Given the description of an element on the screen output the (x, y) to click on. 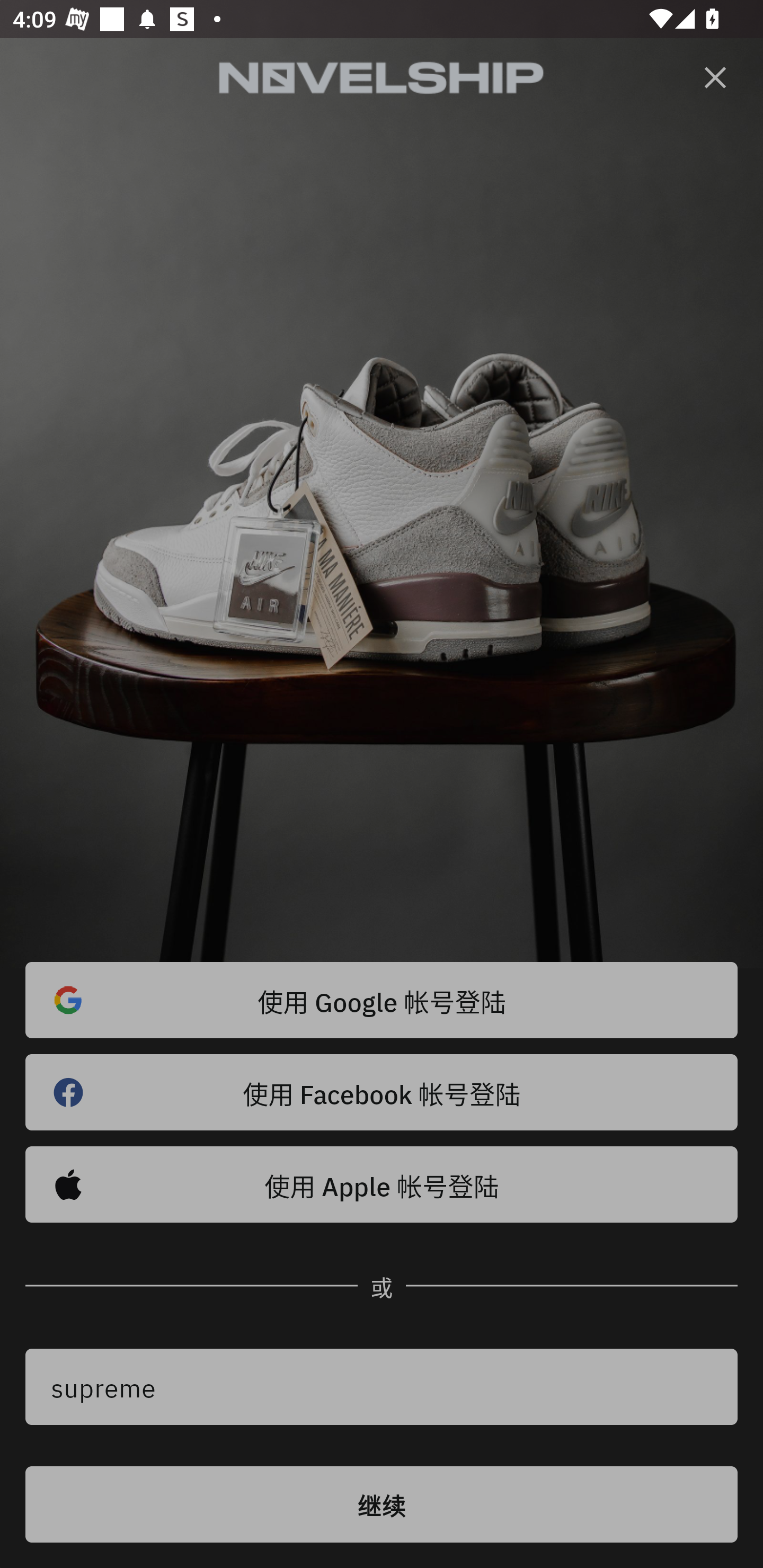
使用 Google 帐号登陆 (381, 1000)
使用 Facebook 帐号登陆 󰈌 (381, 1091)
 使用 Apple 帐号登陆 (381, 1184)
supreme (381, 1386)
继续 (381, 1504)
